Given the description of an element on the screen output the (x, y) to click on. 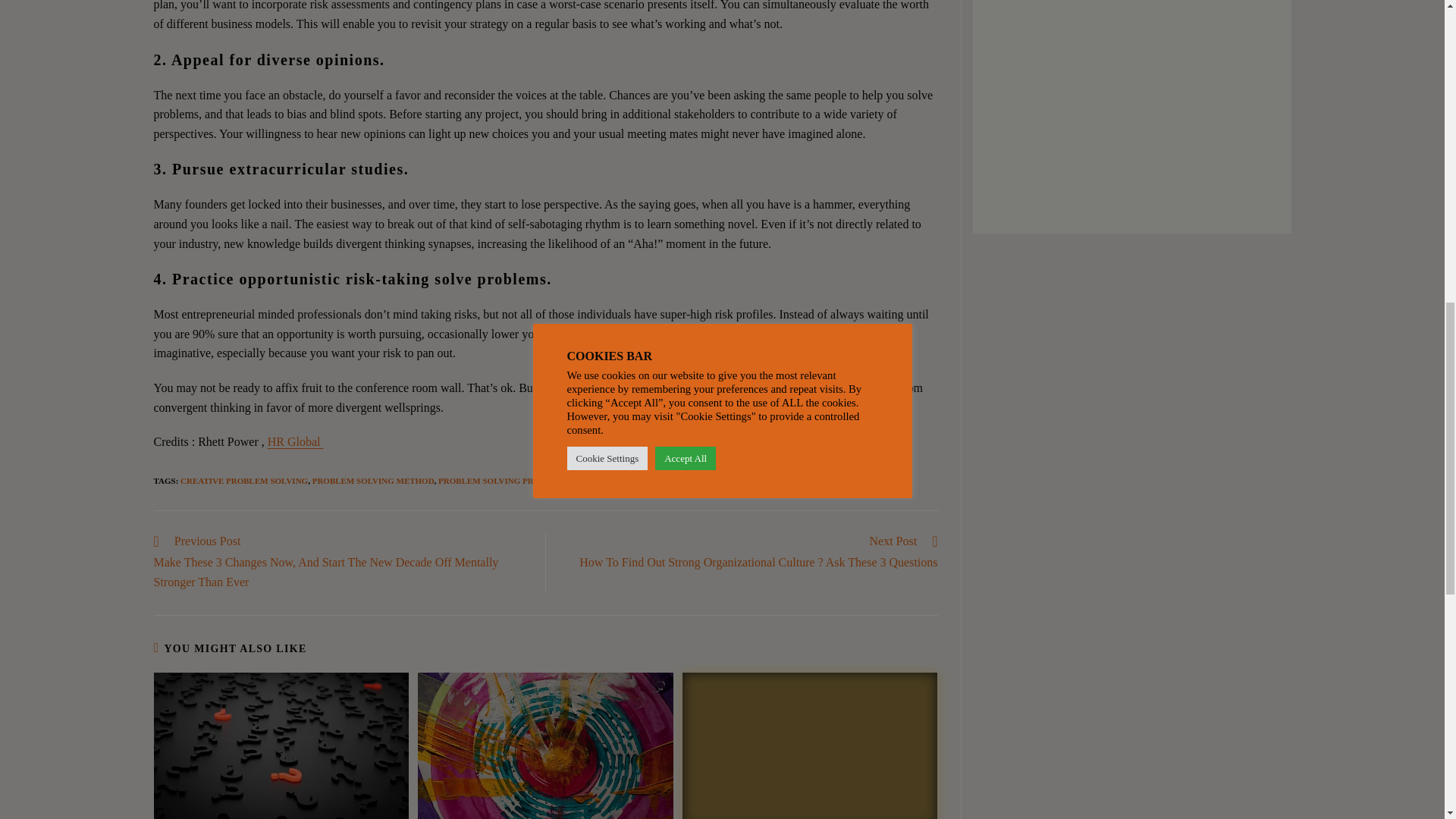
HR Global  (295, 440)
TO SOLVE A PROBLEM (756, 480)
STRUCTURED PROBLEM SOLVING (635, 480)
CREATIVE PROBLEM SOLVING (243, 480)
PROBLEM SOLVING PROCESS (499, 480)
Advertisement (1126, 101)
PROBLEM SOLVING METHOD (373, 480)
